Given the description of an element on the screen output the (x, y) to click on. 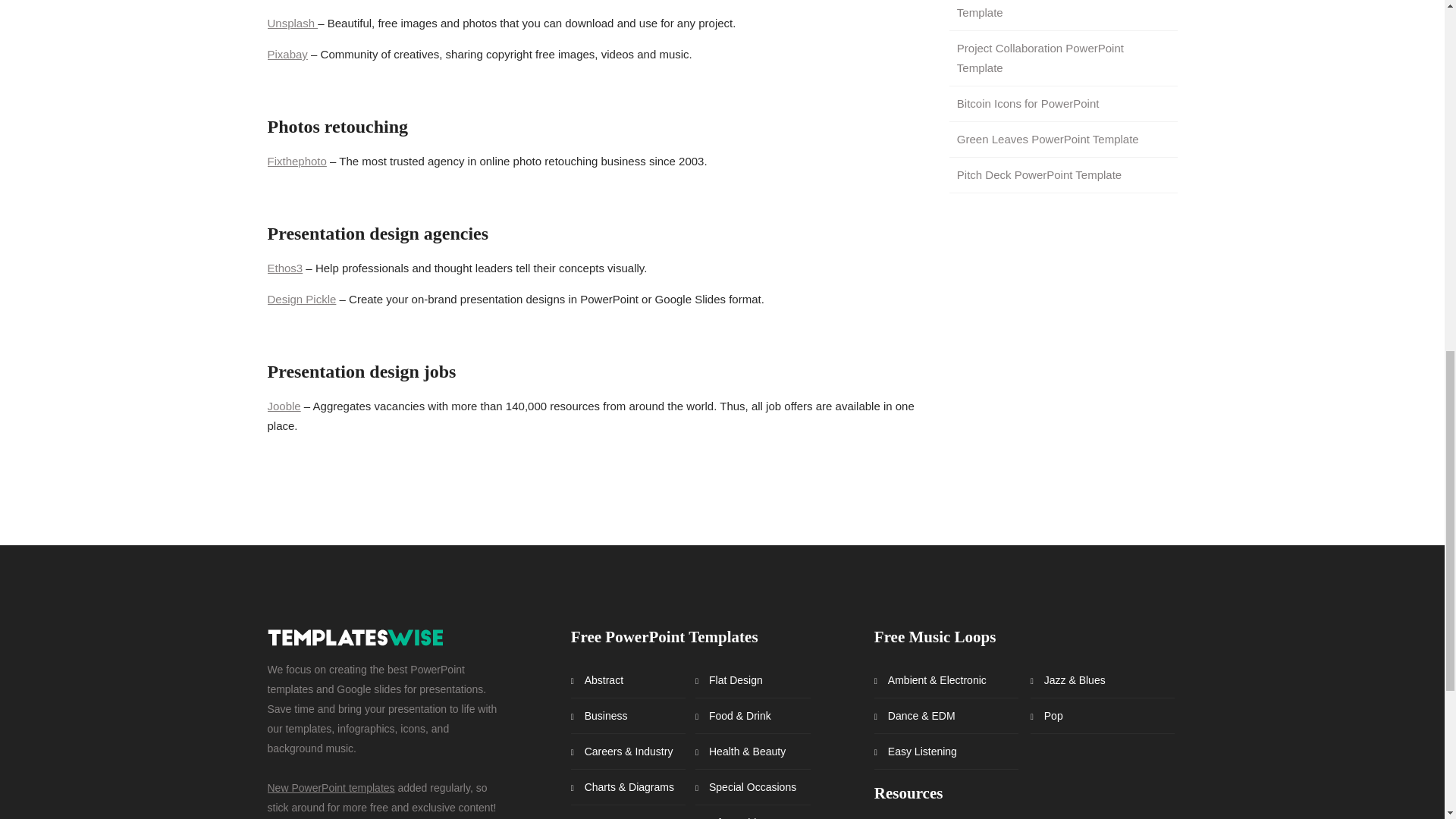
Fixthephoto (296, 160)
Ethos3 (284, 267)
Jooble (282, 405)
Design Pickle (301, 298)
Pixabay (286, 53)
Fixthephoto (296, 160)
Unsplash  (291, 22)
